Given the description of an element on the screen output the (x, y) to click on. 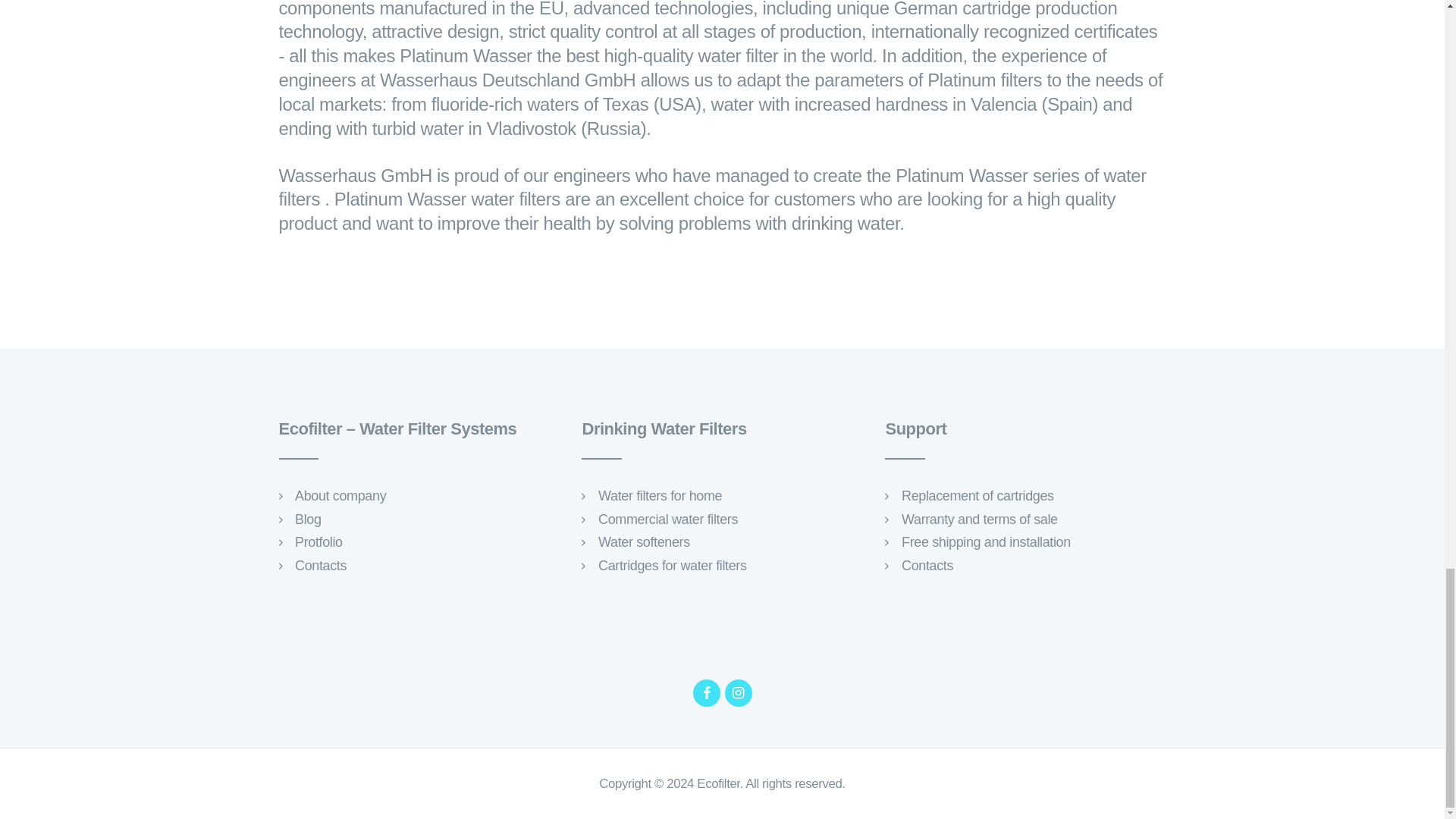
Protfolio (318, 541)
Contacts (320, 565)
Blog (308, 519)
About company (340, 495)
